Given the description of an element on the screen output the (x, y) to click on. 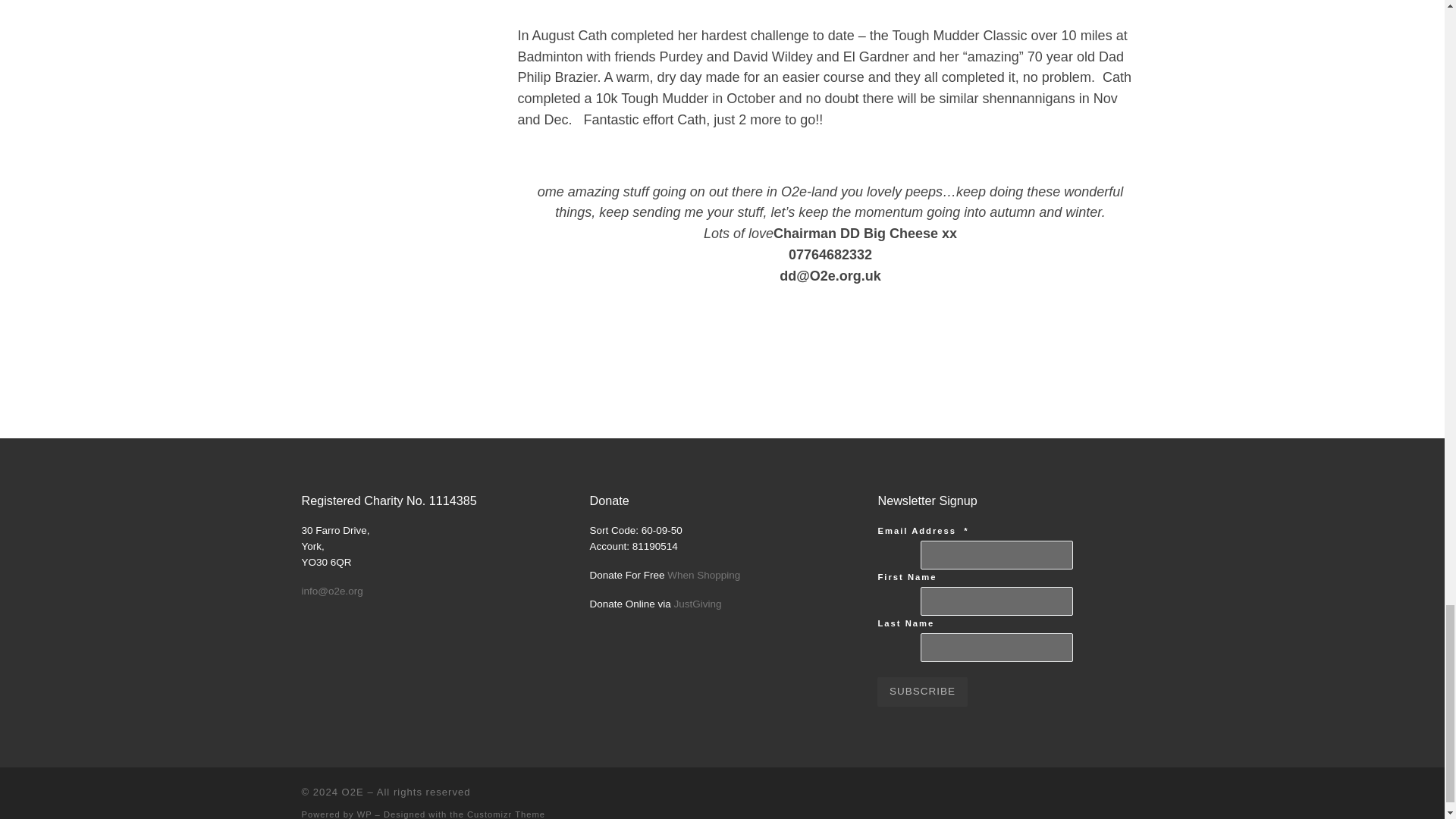
Subscribe (921, 691)
O2E (353, 791)
